Given the description of an element on the screen output the (x, y) to click on. 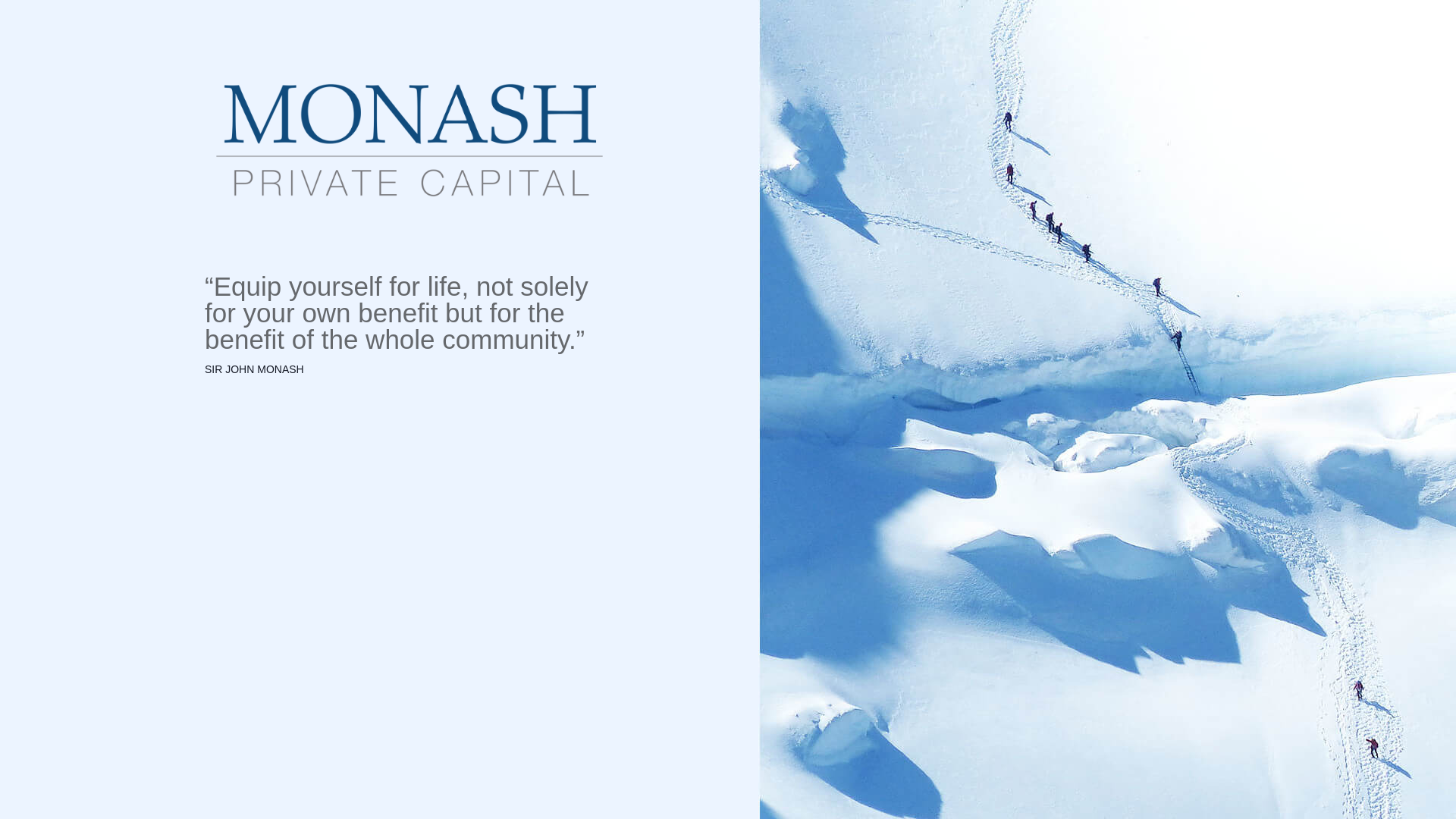
Monash Private Capital Element type: hover (409, 140)
